Given the description of an element on the screen output the (x, y) to click on. 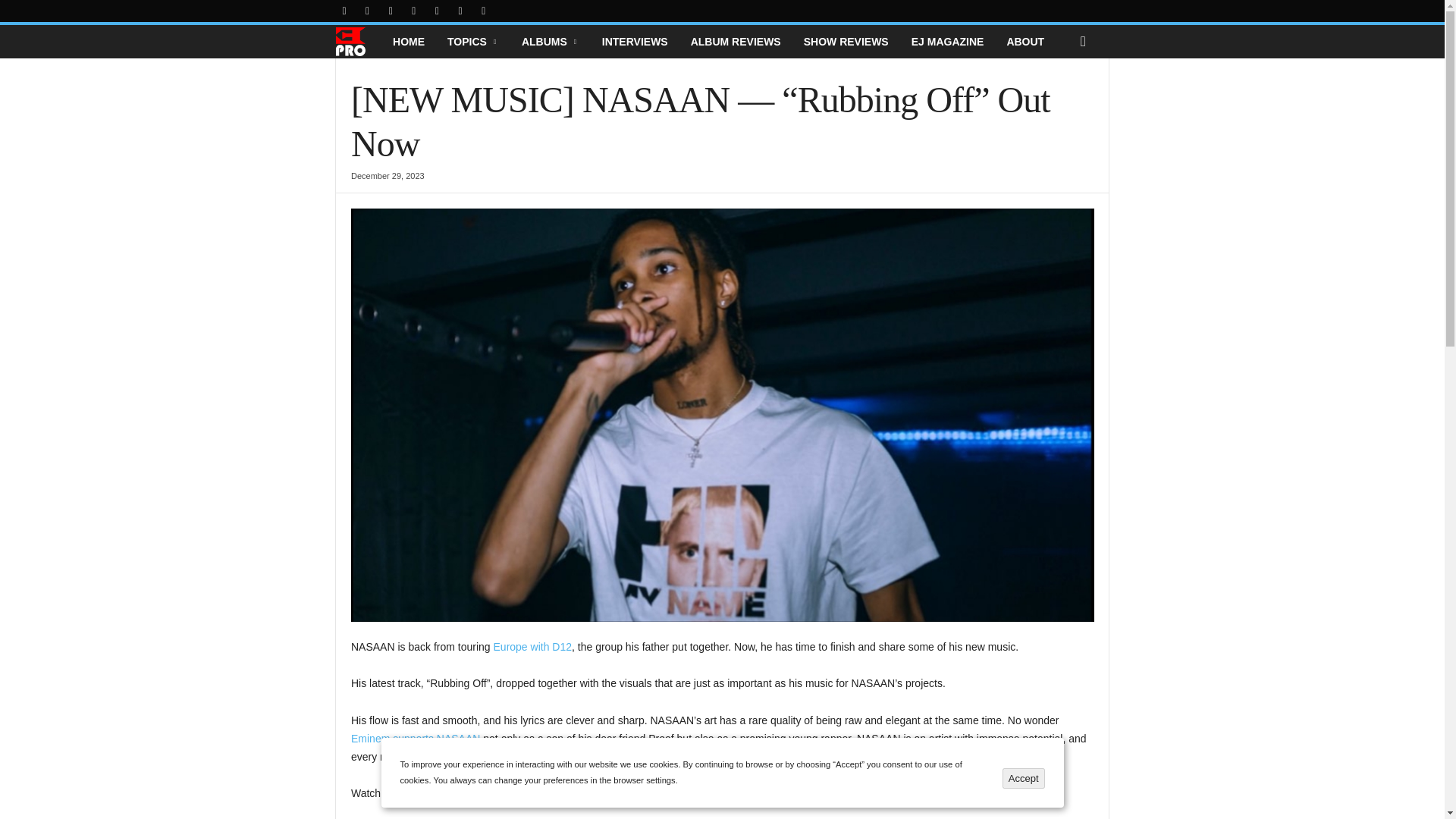
Facebook (343, 11)
Youtube (483, 11)
Website (459, 11)
RSS (389, 11)
Instagram (367, 11)
TOPICS (473, 41)
Spotify (413, 11)
HOME (408, 41)
NASAAN Joins D12 on European Tour (532, 646)
Nasaan Opens Up About His Relationship With Eminem (415, 738)
Twitter (436, 11)
